Given the description of an element on the screen output the (x, y) to click on. 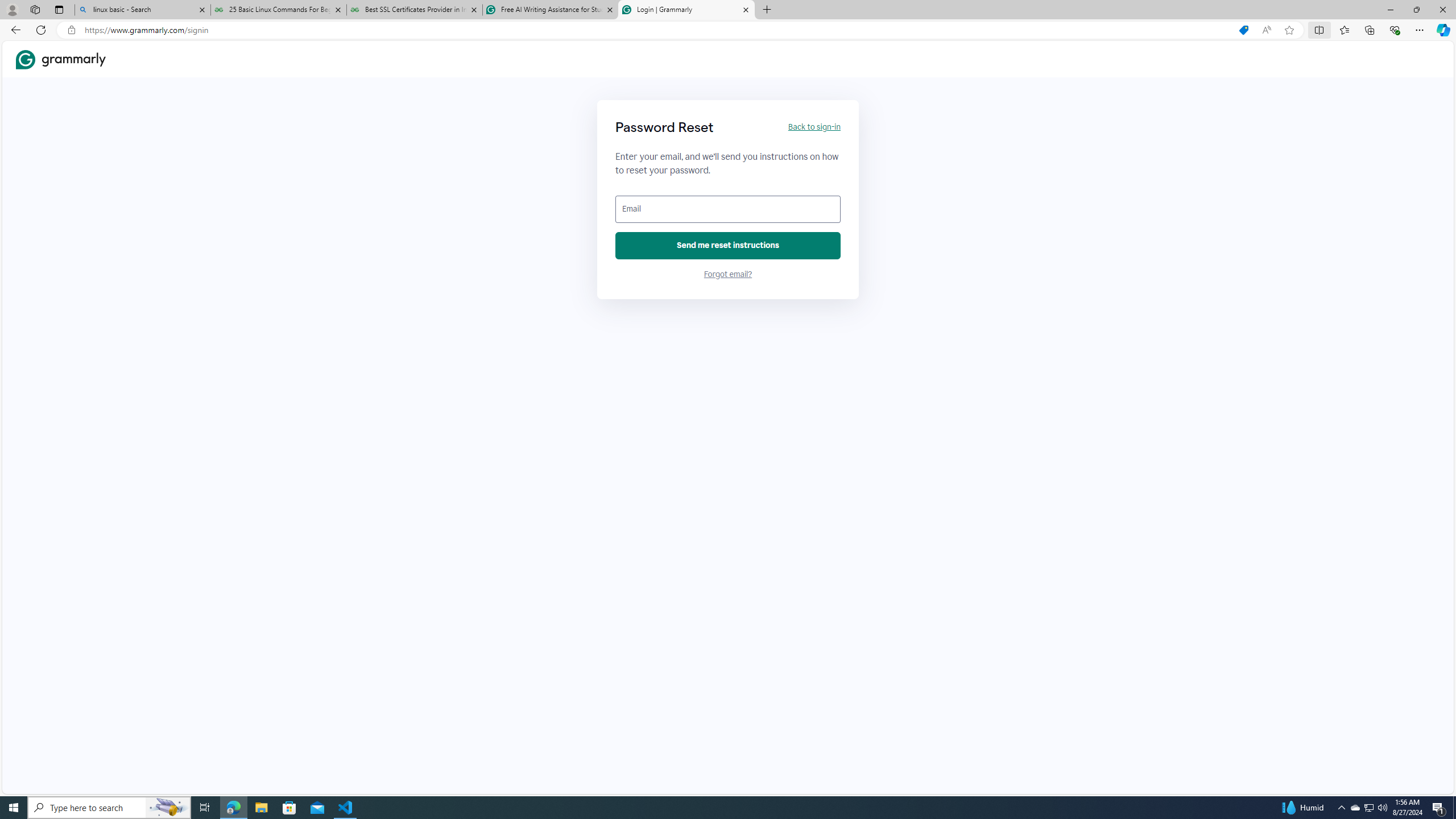
Free AI Writing Assistance for Students | Grammarly (550, 9)
Best SSL Certificates Provider in India - GeeksforGeeks (414, 9)
25 Basic Linux Commands For Beginners - GeeksforGeeks (277, 9)
linux basic - Search (142, 9)
